Given the description of an element on the screen output the (x, y) to click on. 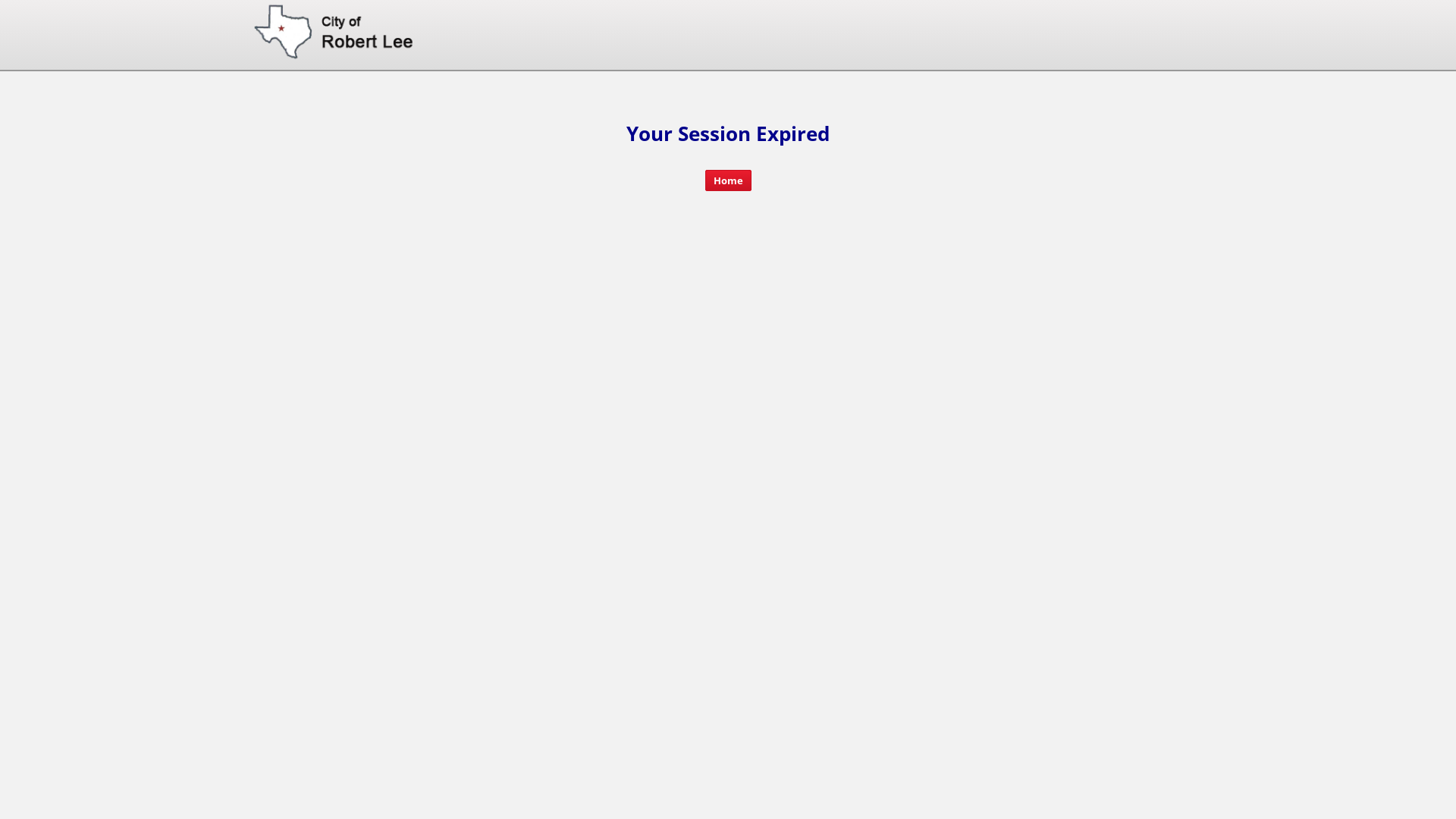
Home Element type: text (728, 180)
